Given the description of an element on the screen output the (x, y) to click on. 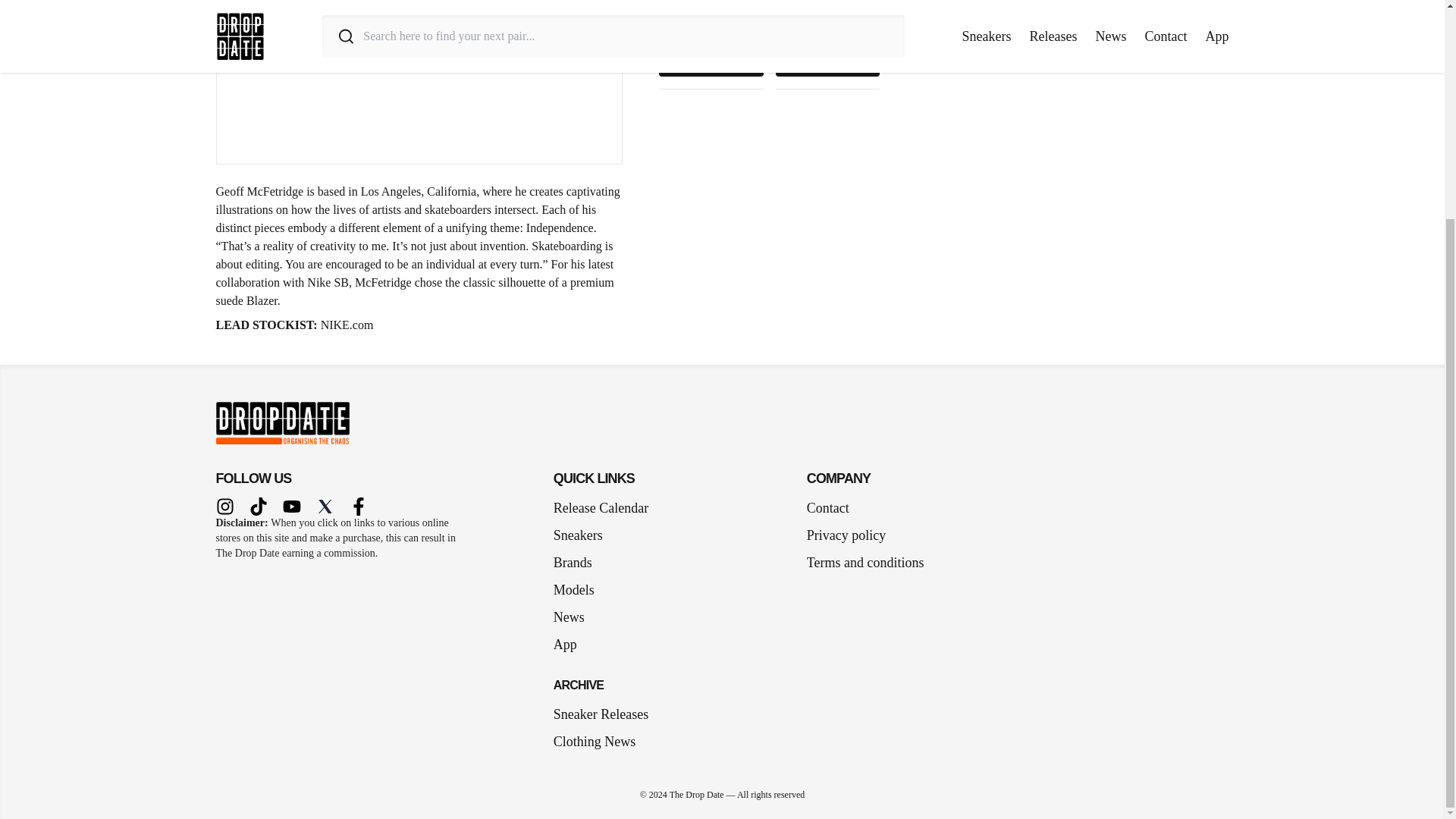
Terms and conditions (865, 562)
Sneakers (583, 535)
Sneaker Releases (600, 713)
NIKE.com (347, 324)
Release Calendar (600, 507)
News (574, 617)
Contact (827, 507)
Models (580, 589)
